Given the description of an element on the screen output the (x, y) to click on. 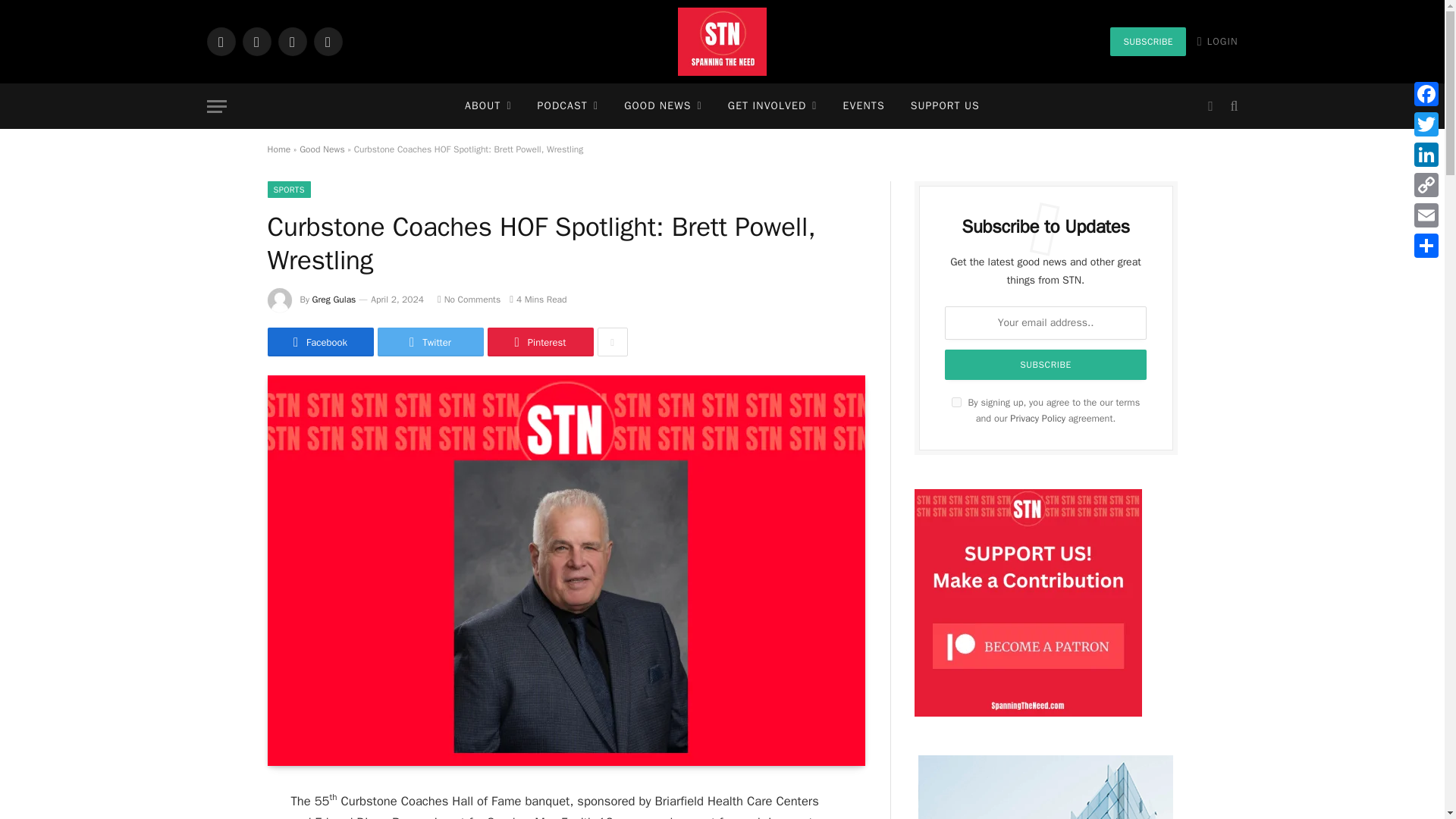
Spanning the Need: Good News, Inspiring, the Uninspired. (722, 41)
Facebook (220, 41)
SUBSCRIBE (1147, 41)
ABOUT (487, 105)
YouTube (328, 41)
LOGIN (1217, 41)
Subscribe (1045, 364)
on (956, 402)
Instagram (256, 41)
LinkedIn (291, 41)
